Given the description of an element on the screen output the (x, y) to click on. 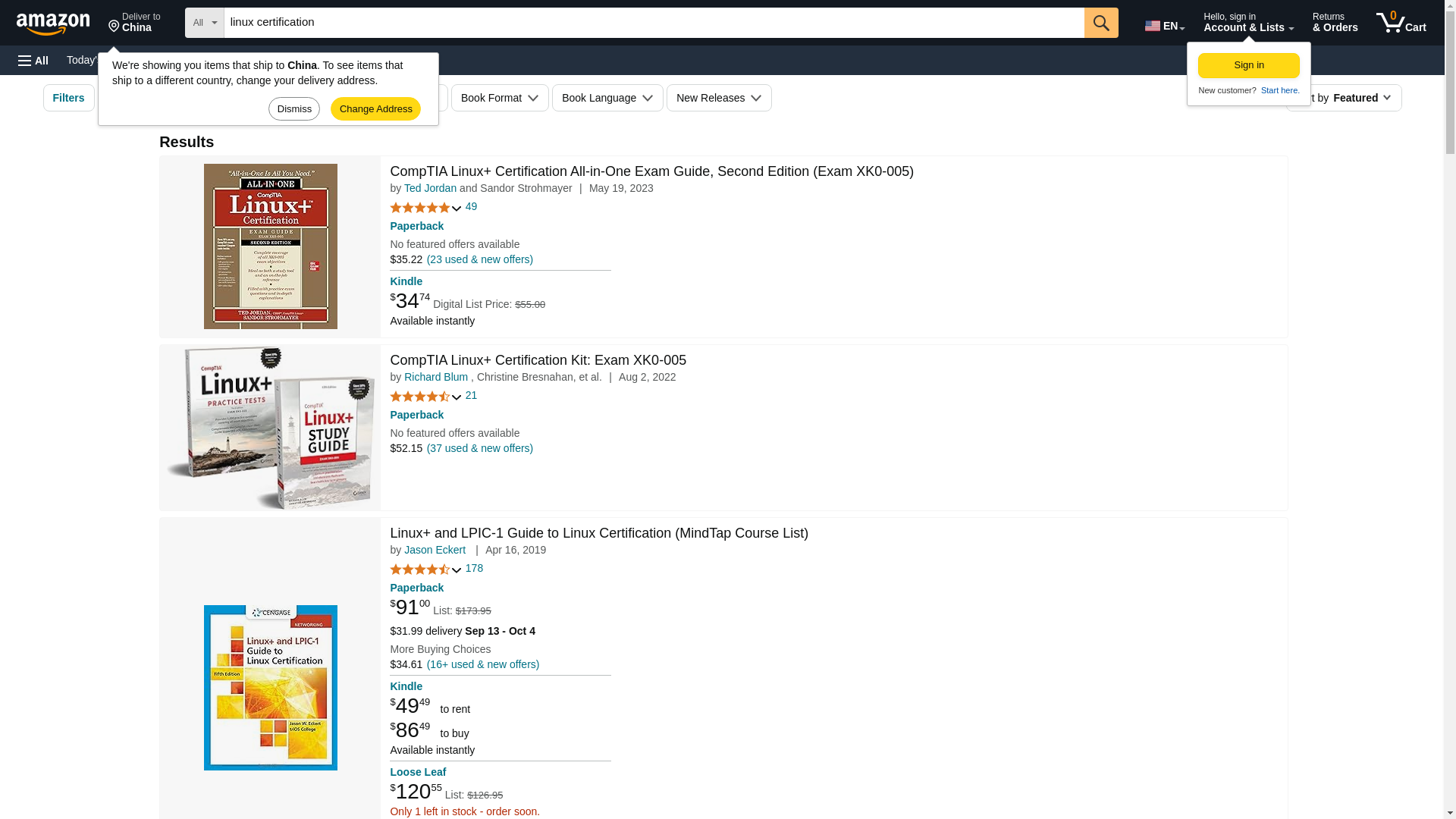
Today's Deals (1401, 22)
Registry (99, 59)
Kindle Unlimited Eligible (272, 59)
All (381, 97)
EN (134, 22)
Gift Cards (33, 60)
Customer Service (1163, 22)
Go (333, 59)
